Given the description of an element on the screen output the (x, y) to click on. 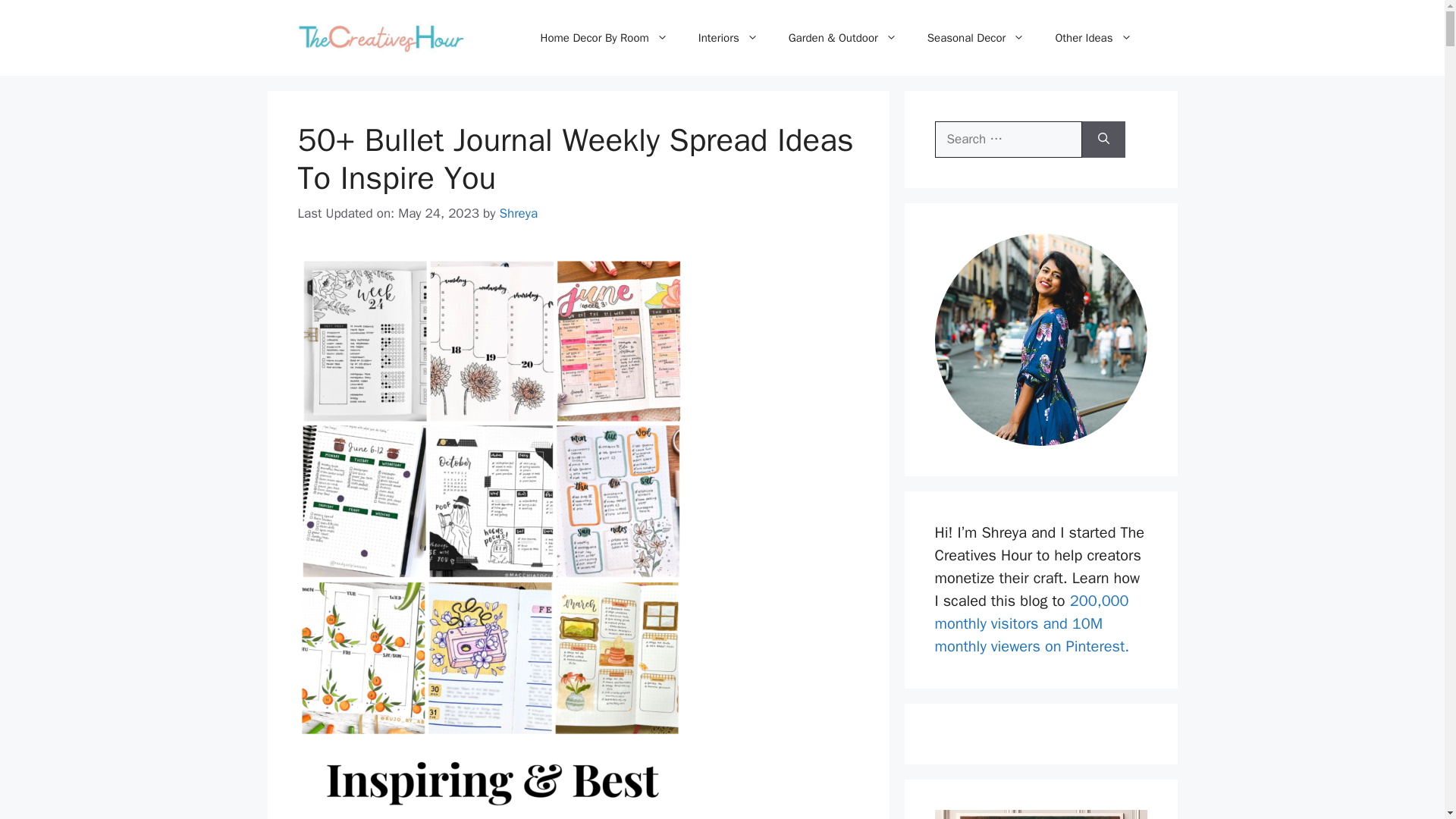
Other Ideas (1093, 37)
Home Decor By Room (603, 37)
Interiors (727, 37)
View all posts by Shreya (518, 213)
Seasonal Decor (976, 37)
Search for: (1007, 139)
